Given the description of an element on the screen output the (x, y) to click on. 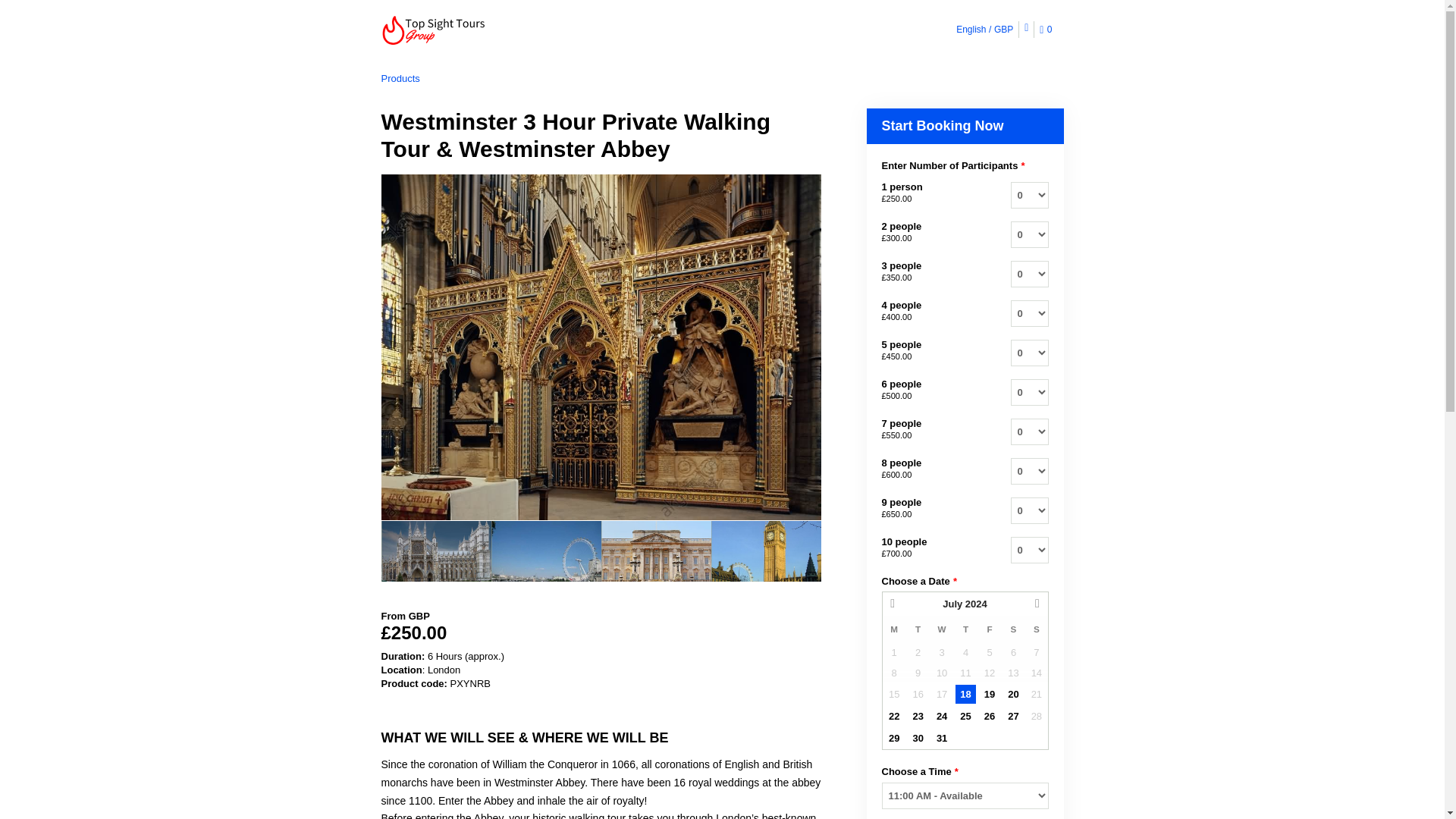
English GBP (984, 29)
Not available (1013, 652)
Not available (917, 652)
Not available (1035, 652)
0 (1047, 30)
Not available (941, 652)
Not available (893, 652)
Not available (988, 652)
Not available (964, 652)
